Given the description of an element on the screen output the (x, y) to click on. 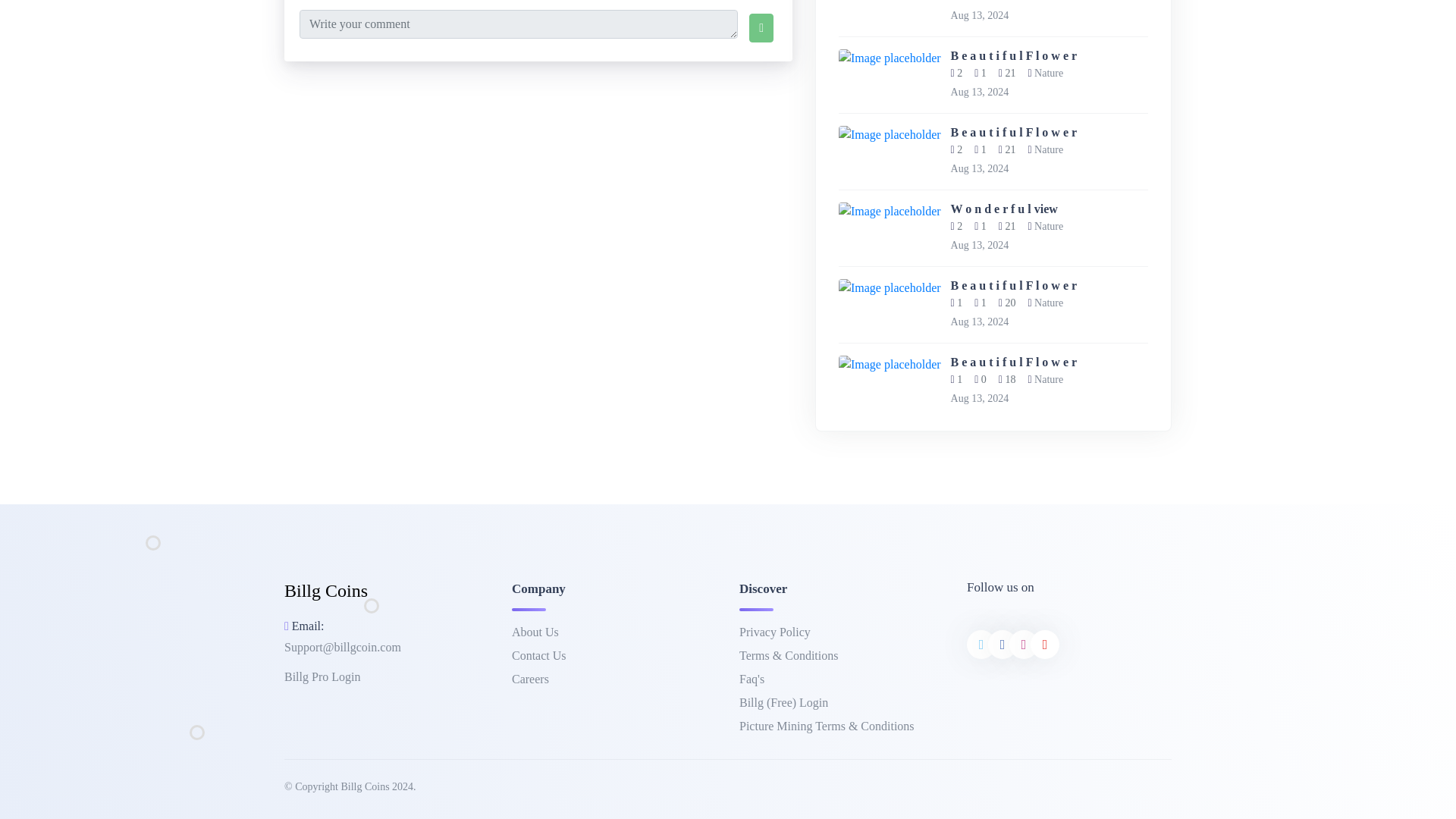
Dribble (1044, 644)
Twitter (980, 644)
Instagram (1023, 644)
Facebook (1002, 644)
